Given the description of an element on the screen output the (x, y) to click on. 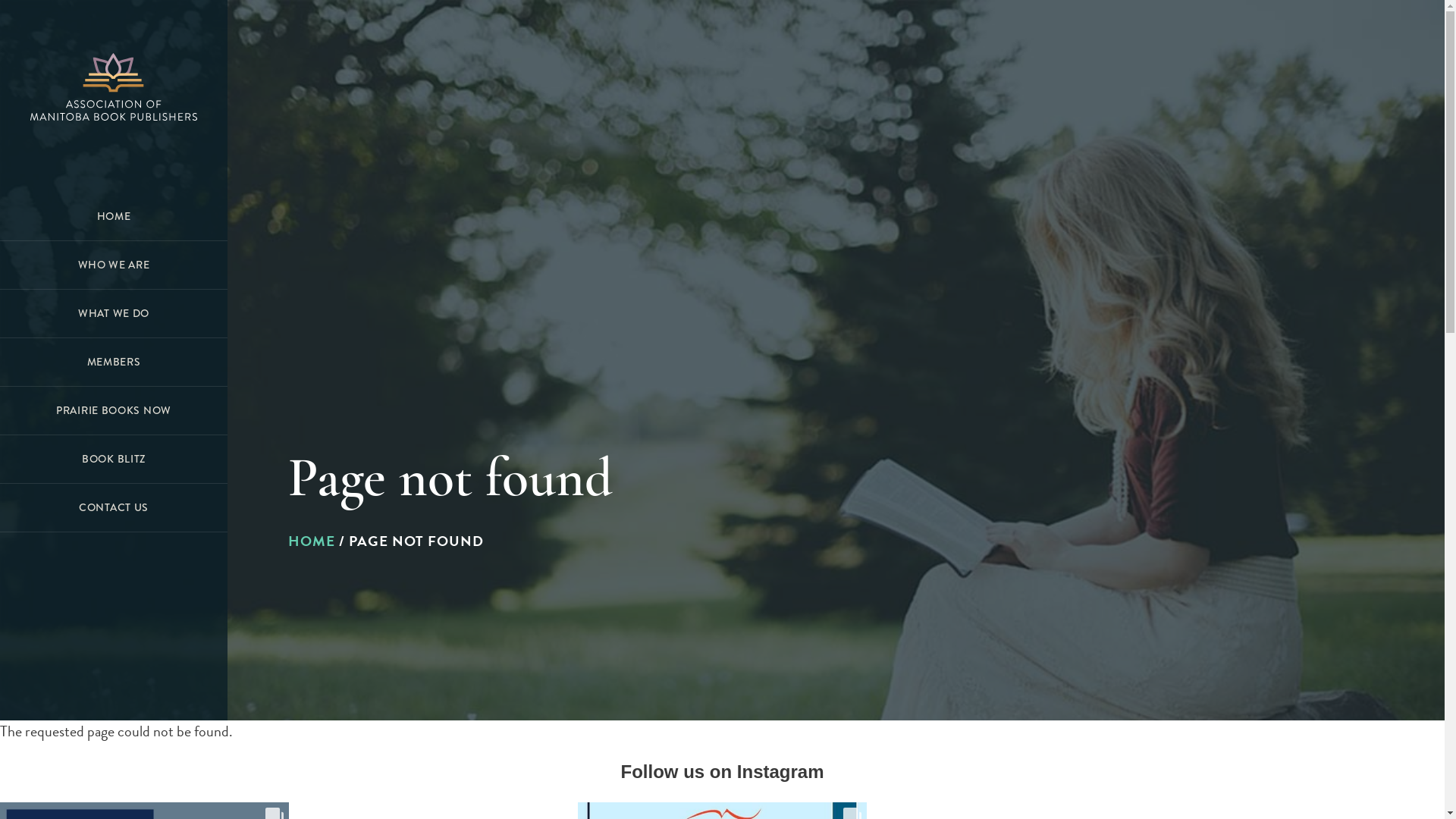
WHO WE ARE Element type: text (113, 265)
HOME Element type: text (311, 541)
BOOK BLITZ Element type: text (113, 459)
PRAIRIE BOOKS NOW Element type: text (113, 410)
HOME Element type: text (113, 216)
CONTACT US Element type: text (113, 507)
Skip to main content Element type: text (0, 0)
WHAT WE DO Element type: text (113, 313)
MEMBERS Element type: text (113, 362)
